Given the description of an element on the screen output the (x, y) to click on. 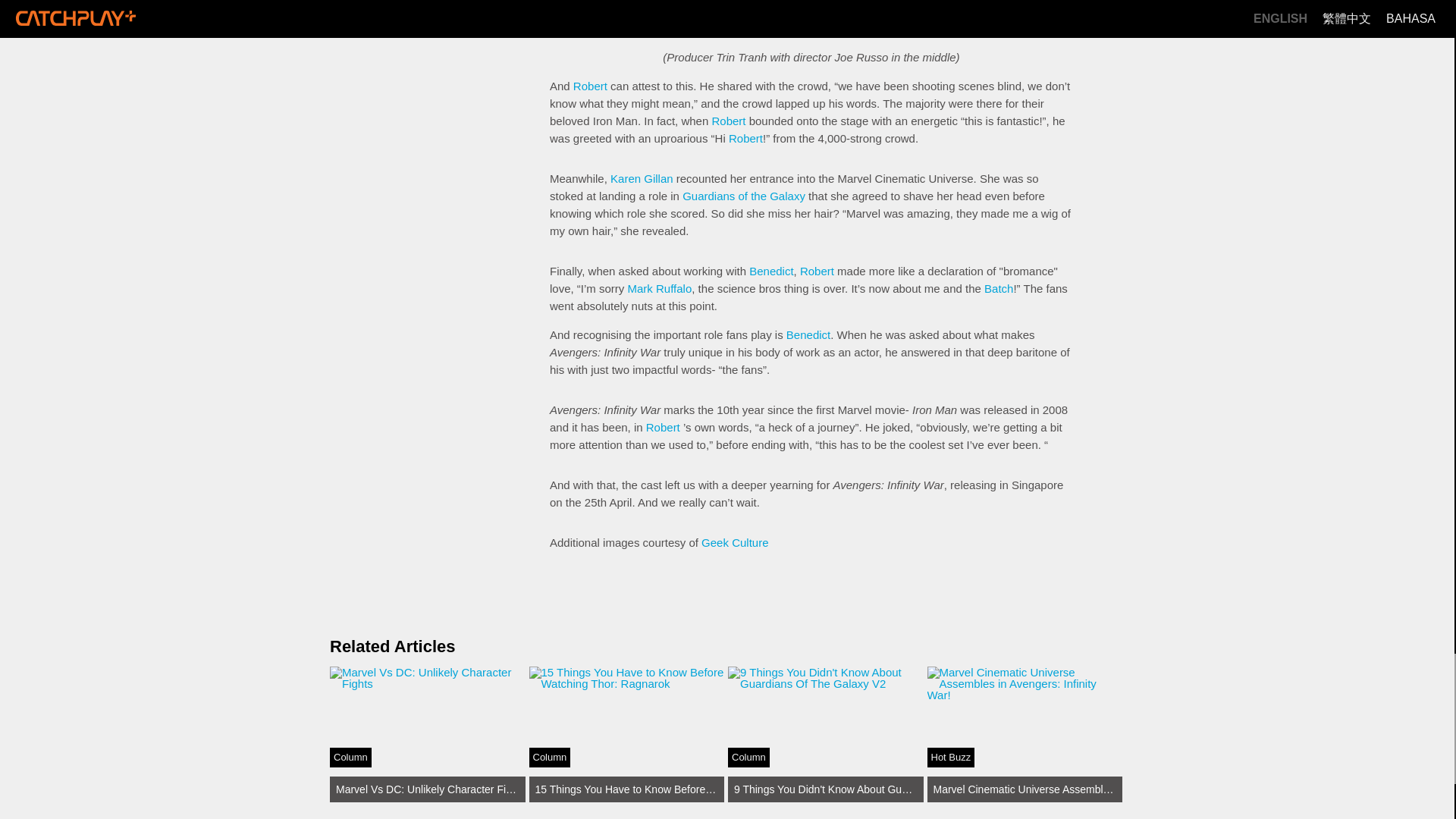
Batch (998, 287)
Guardians of the Galaxy (743, 195)
Robert (590, 85)
Robert (816, 270)
Benedict (771, 270)
Robert (662, 427)
Mark Ruffalo (660, 287)
Benedict (807, 334)
Tom Holland (678, 16)
